Given the description of an element on the screen output the (x, y) to click on. 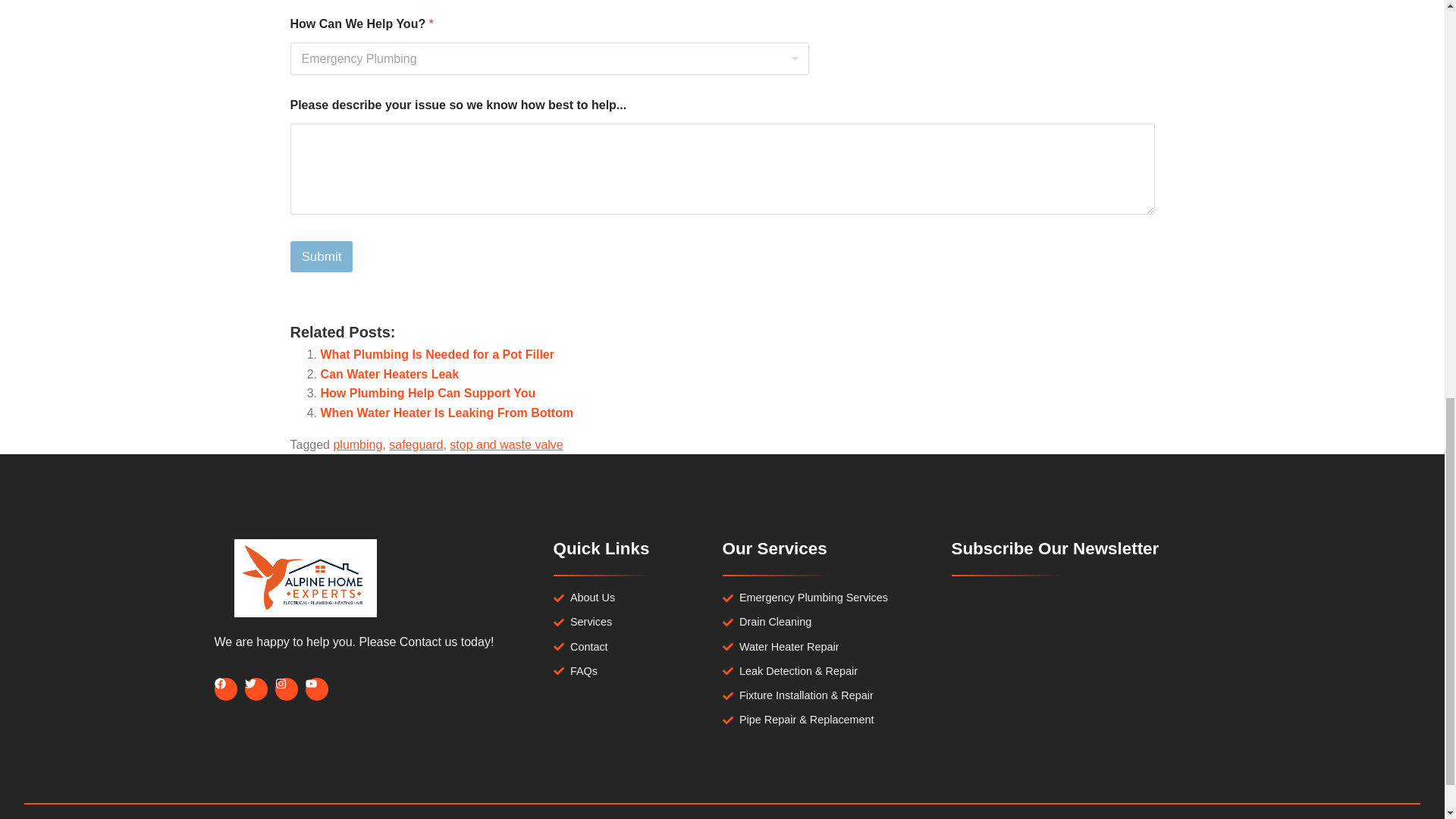
Water Heater Repair (823, 646)
About Us (637, 597)
safeguard (415, 444)
Contact (637, 646)
When Water Heater Is Leaking From Bottom (446, 412)
When Water Heater Is Leaking From Bottom (446, 412)
What Plumbing Is Needed for a Pot Filler (436, 354)
stop and waste valve (505, 444)
Can Water Heaters Leak (389, 373)
Can Water Heaters Leak (389, 373)
